Given the description of an element on the screen output the (x, y) to click on. 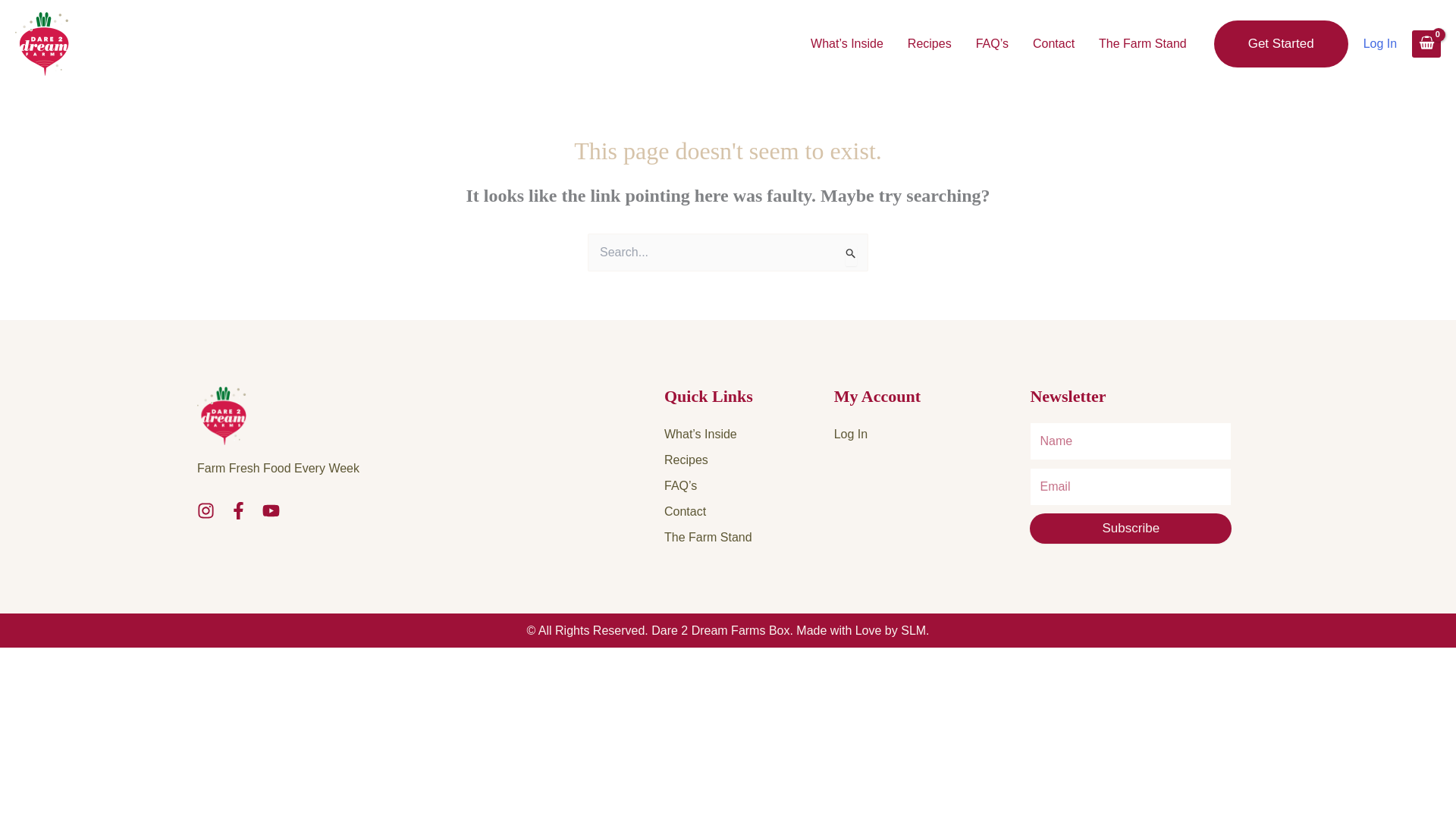
Youtube (270, 510)
Log In (685, 643)
The Farm Stand (748, 537)
Instagram (205, 510)
Log In (1379, 43)
Subscribe (1130, 528)
Recipes (748, 460)
Contact (748, 511)
The Farm Stand (1142, 43)
Get Started (1281, 43)
